Given the description of an element on the screen output the (x, y) to click on. 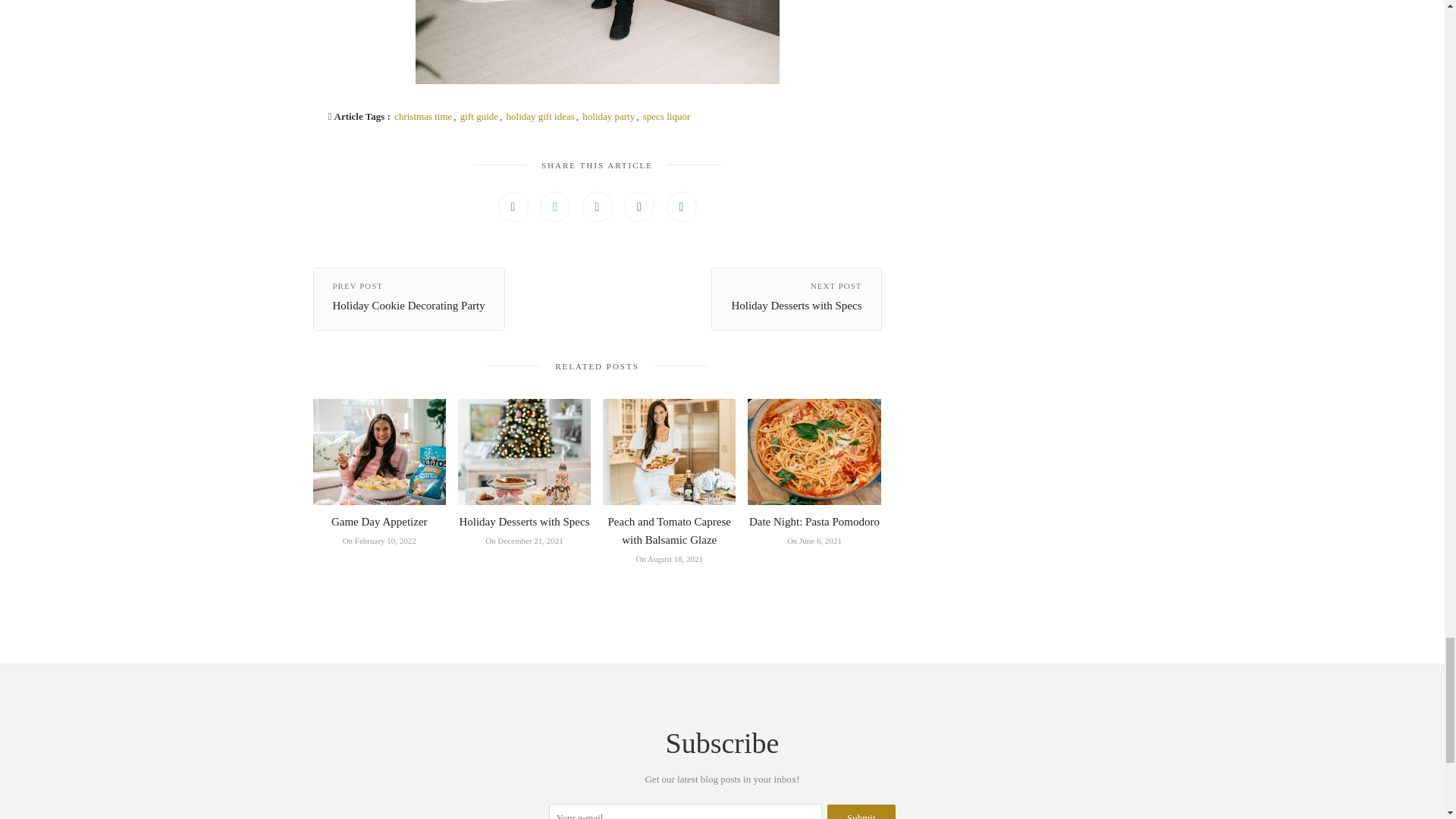
Your e-mail (685, 811)
Submit (861, 811)
